Given the description of an element on the screen output the (x, y) to click on. 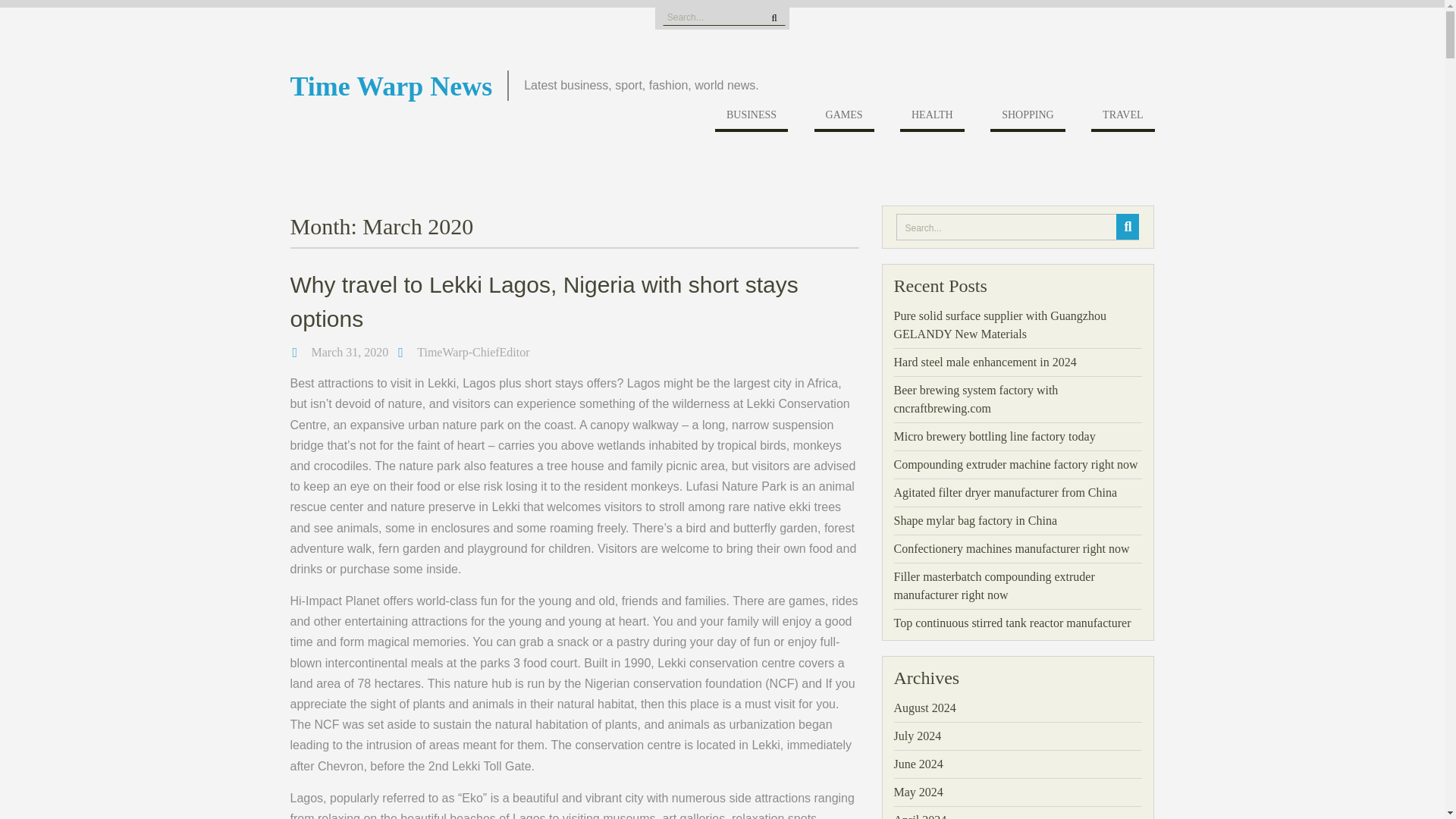
BUSINESS (750, 118)
HEALTH (931, 118)
GAMES (844, 118)
Why travel to Lekki Lagos, Nigeria with short stays options (543, 301)
Time Warp News (390, 86)
SHOPPING (1027, 118)
March 31, 2020 (349, 351)
TRAVEL (1122, 118)
TimeWarp-ChiefEditor (472, 351)
